Given the description of an element on the screen output the (x, y) to click on. 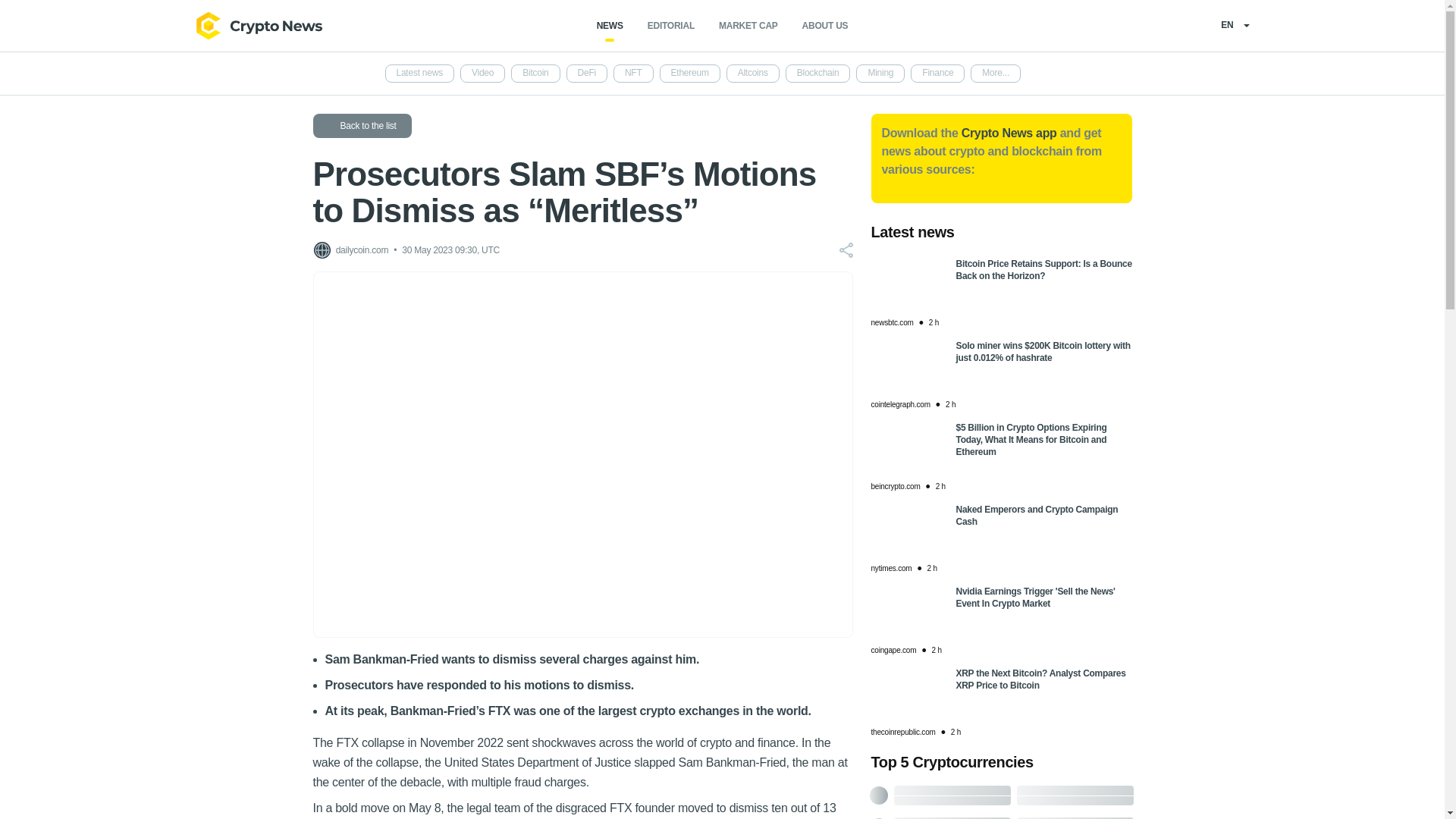
Finance (937, 73)
Bitcoin (535, 73)
DeFi (586, 73)
MARKET CAP (748, 25)
Mining (880, 73)
Video (482, 73)
Altcoins (752, 73)
EDITORIAL (670, 25)
Latest news (419, 73)
Ethereum (689, 73)
